Given the description of an element on the screen output the (x, y) to click on. 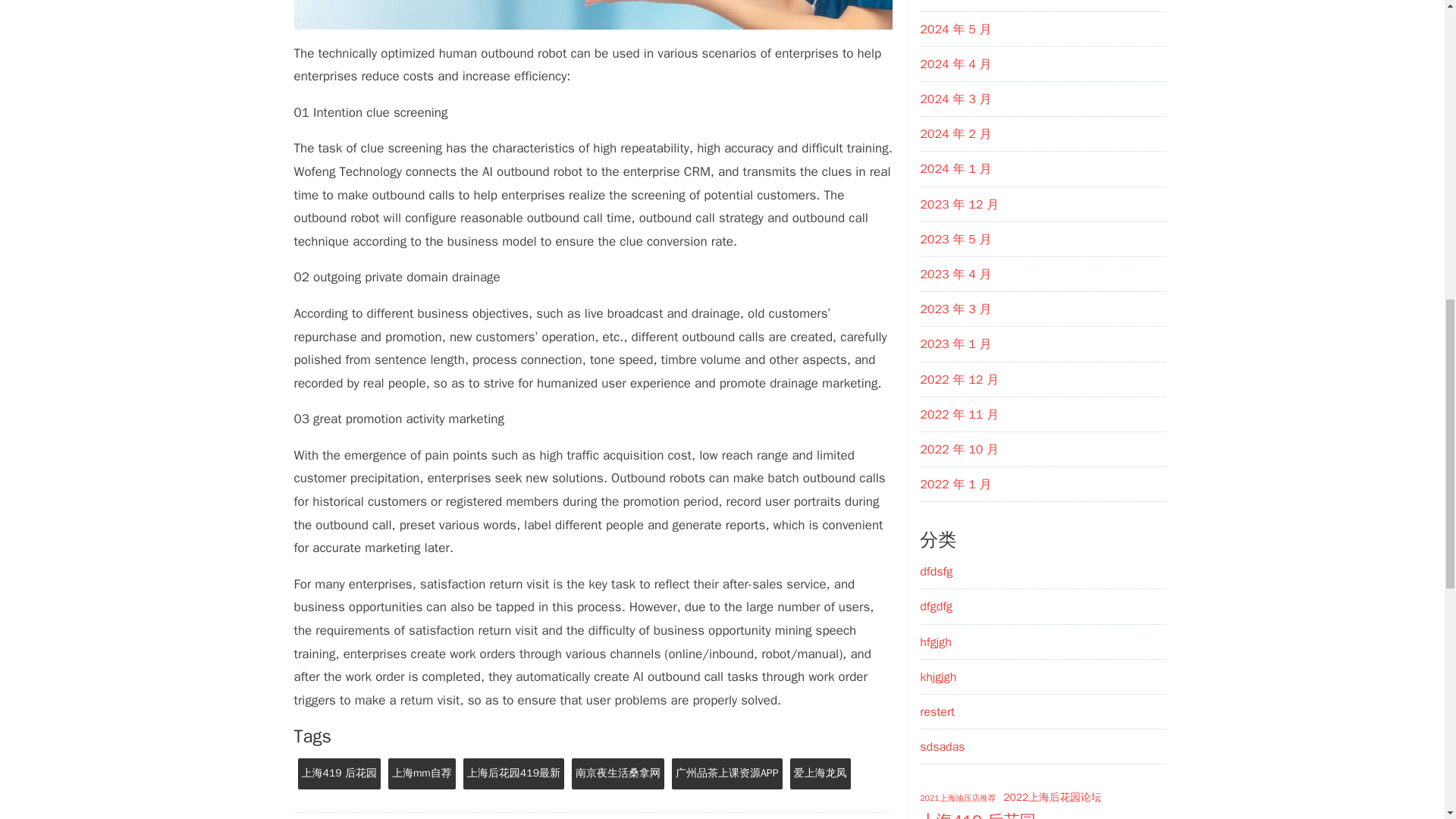
dfgdfg (936, 606)
hfgjgh (936, 642)
khjgjgh (938, 676)
sdsadas (941, 746)
restert (937, 711)
dfdsfg (936, 571)
